Given the description of an element on the screen output the (x, y) to click on. 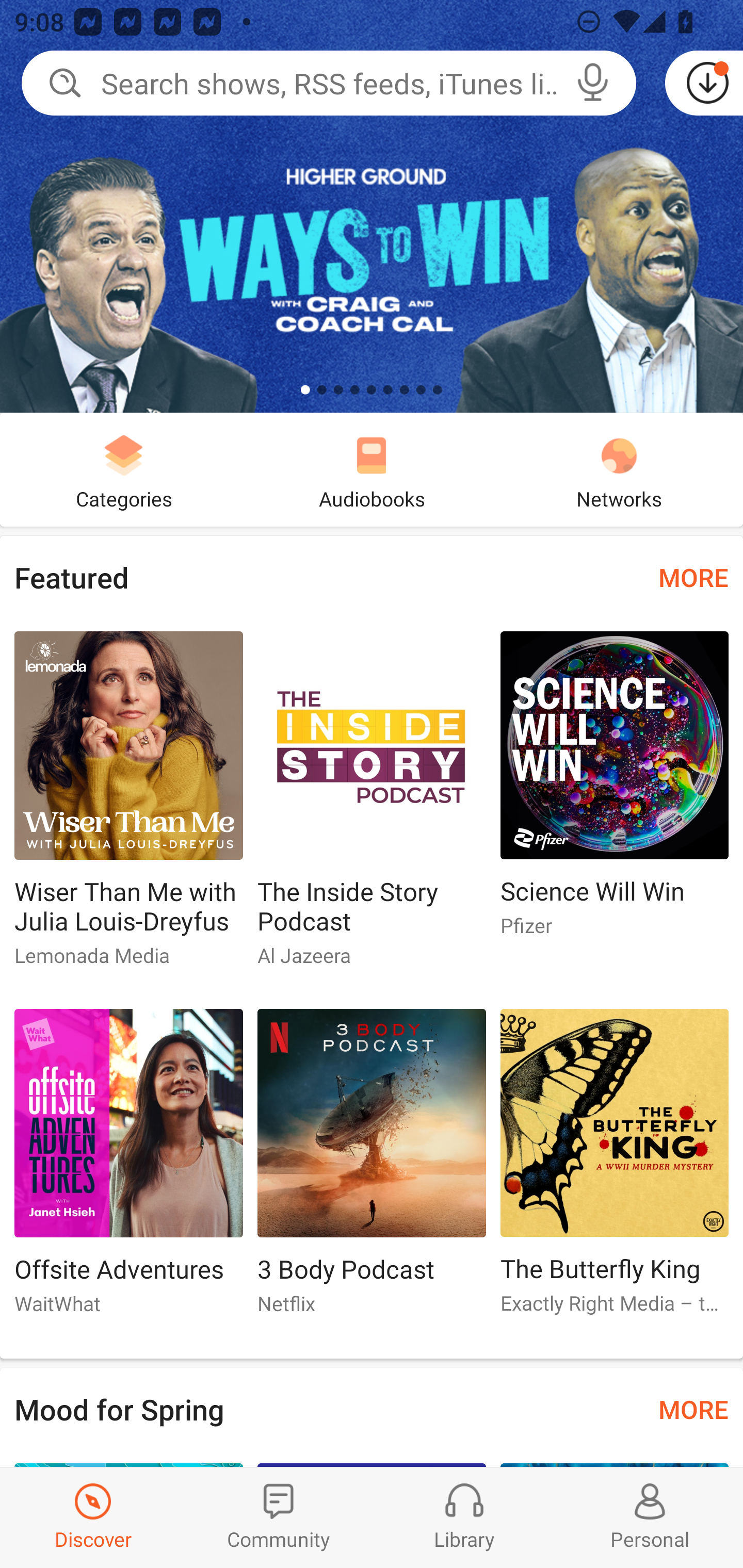
Ways To Win (371, 206)
Categories (123, 469)
Audiobooks (371, 469)
Networks (619, 469)
MORE (693, 576)
Science Will Win Science Will Win Pfizer (614, 792)
Offsite Adventures Offsite Adventures WaitWhat (128, 1169)
3 Body Podcast 3 Body Podcast Netflix (371, 1169)
MORE (693, 1409)
Discover (92, 1517)
Community (278, 1517)
Library (464, 1517)
Profiles and Settings Personal (650, 1517)
